Given the description of an element on the screen output the (x, y) to click on. 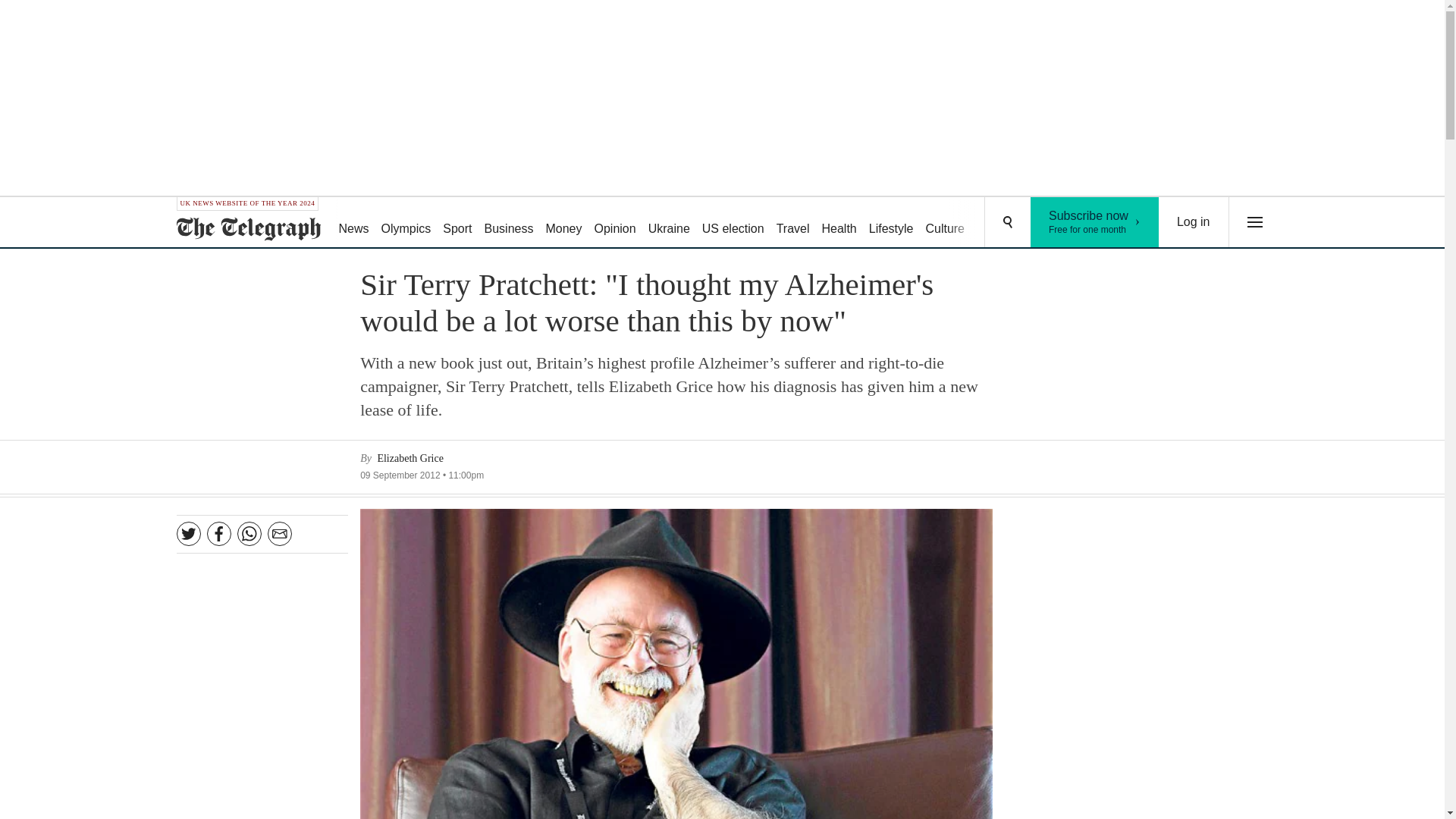
Olympics (406, 223)
US election (732, 223)
Money (563, 223)
Ukraine (668, 223)
Travel (792, 223)
Opinion (615, 223)
Lifestyle (891, 223)
Podcasts (1094, 222)
Culture (1056, 223)
